Given the description of an element on the screen output the (x, y) to click on. 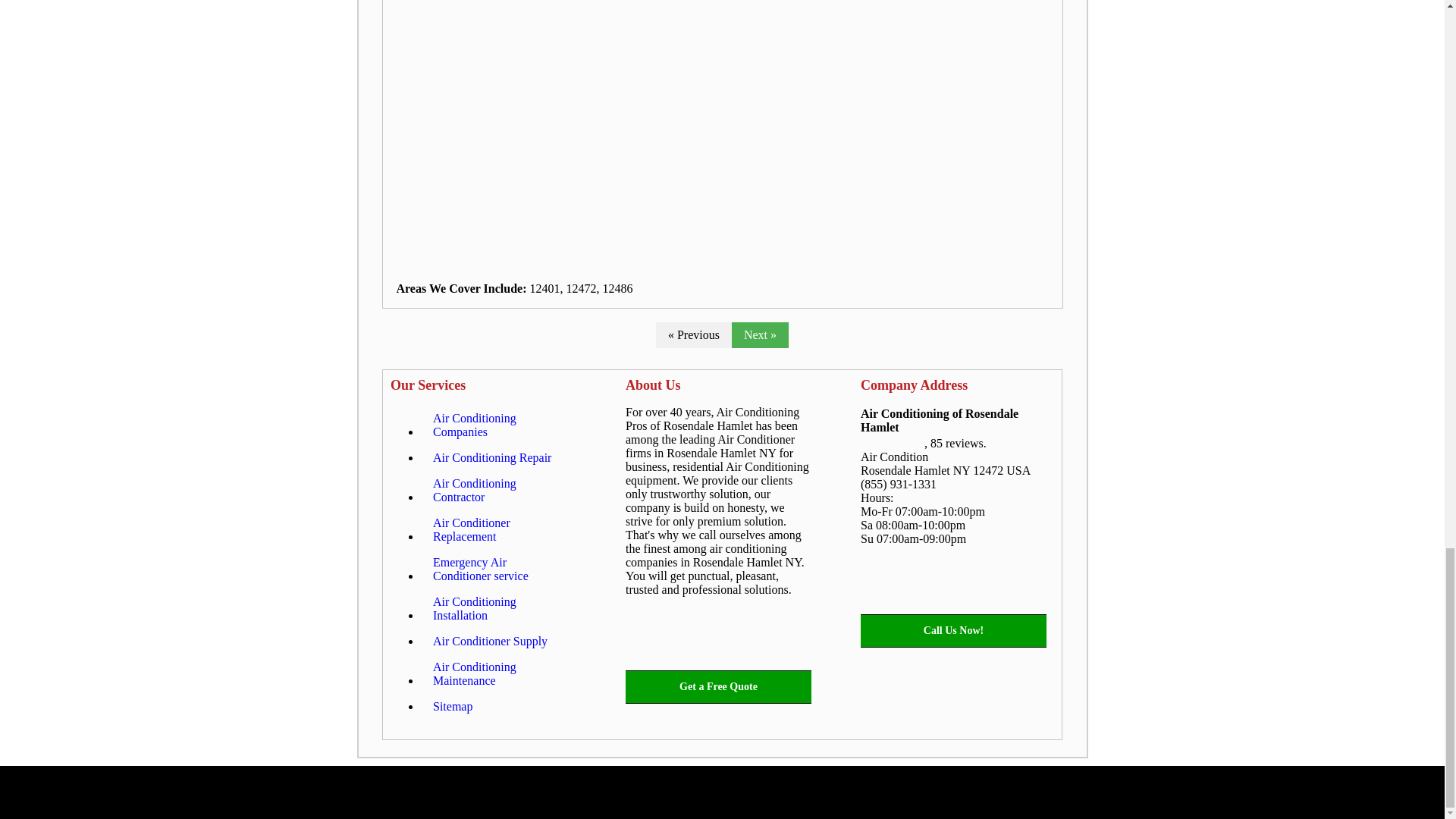
Air Conditioning Repair (491, 457)
Air Conditioner Replacement (498, 529)
Air Conditioner Supply (489, 641)
Sitemap (452, 706)
Air Conditioning Maintenance (498, 673)
Get a Free Quote (718, 686)
Emergency Air Conditioner service (498, 568)
Air Conditioning Companies (498, 425)
Air Conditioning Contractor (498, 490)
Air Conditioning Installation (498, 608)
